Given the description of an element on the screen output the (x, y) to click on. 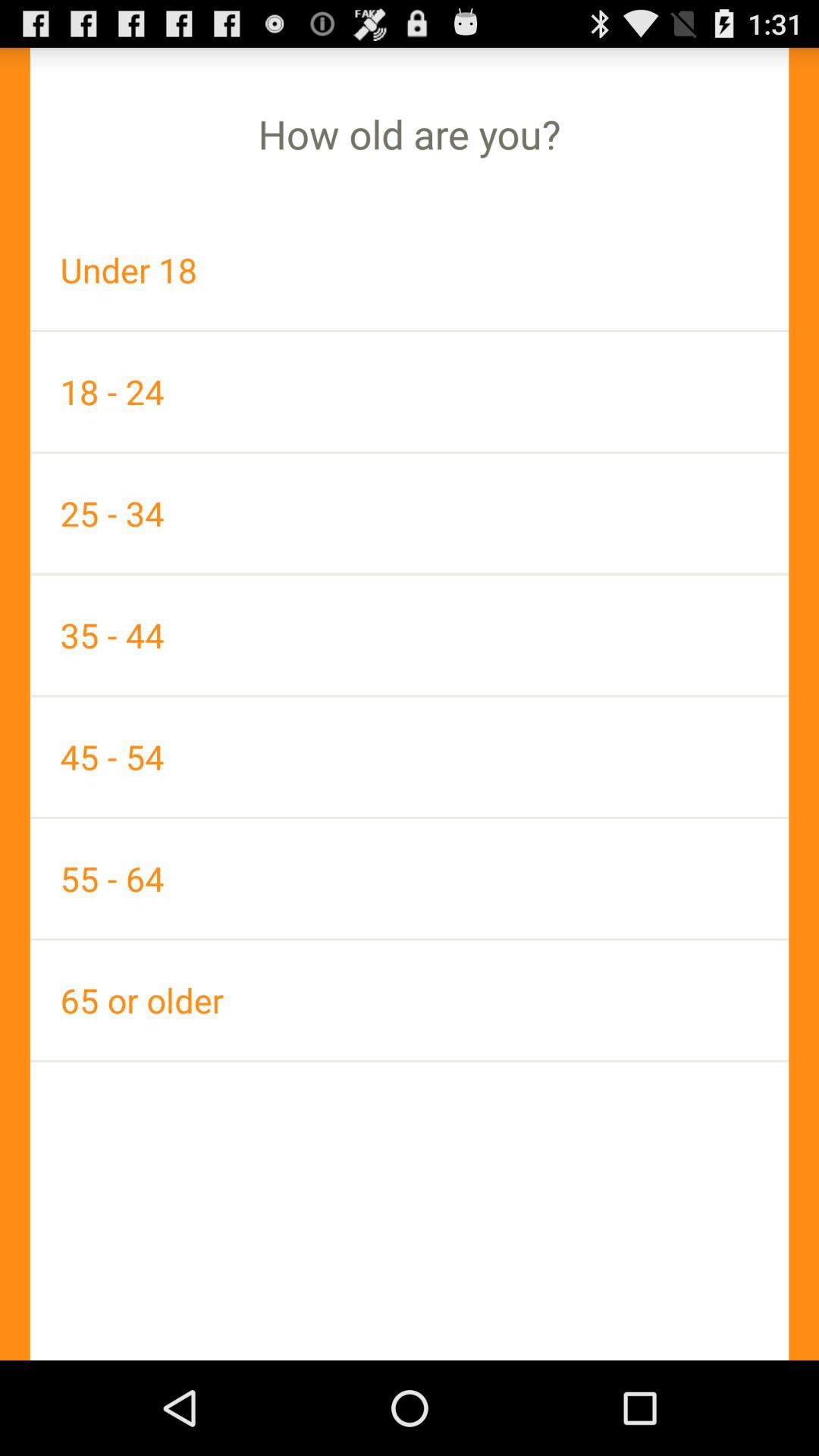
flip to 45 - 54 app (409, 756)
